Given the description of an element on the screen output the (x, y) to click on. 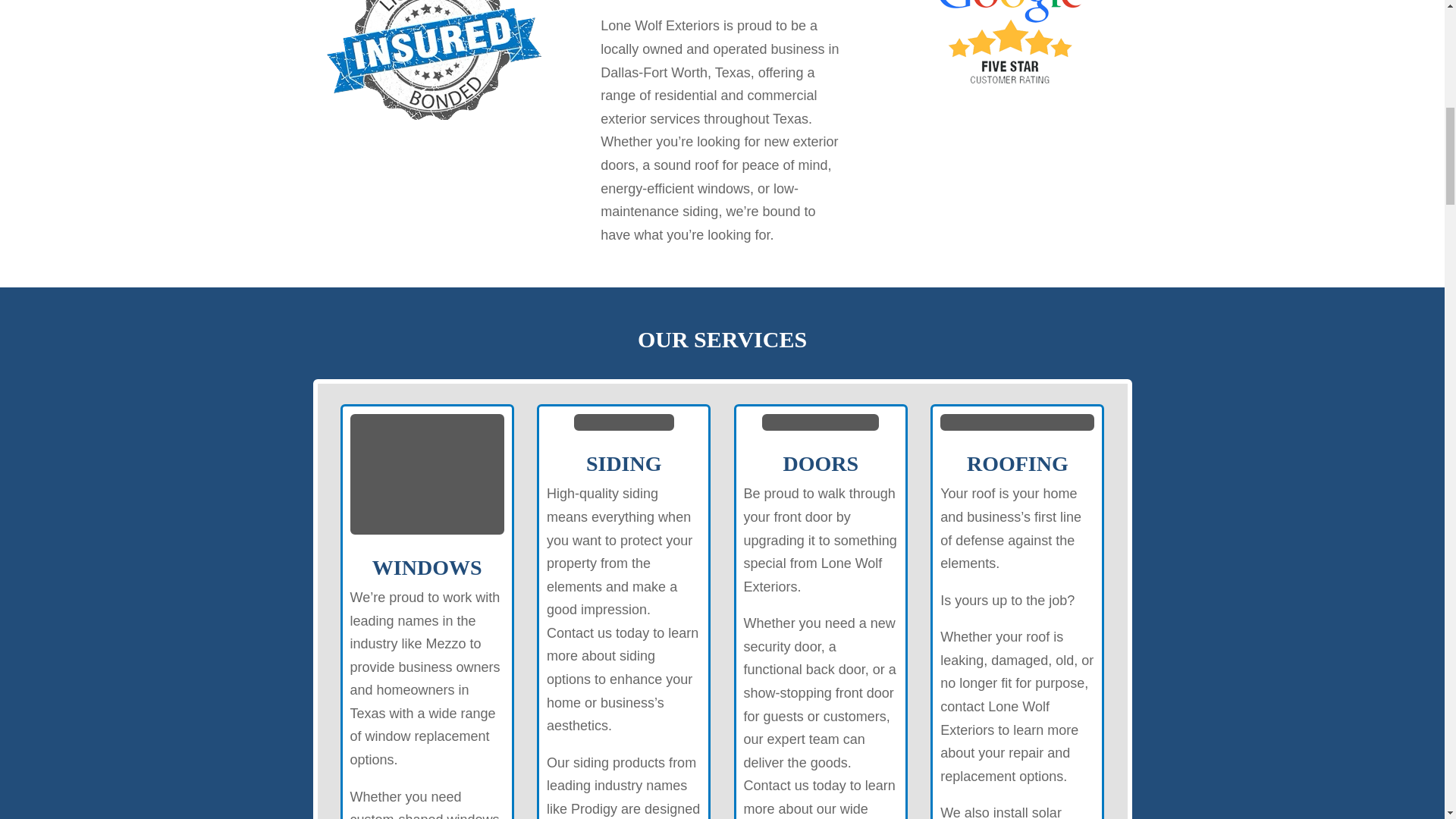
window replacement licensed insured bonded (433, 59)
google-5-stars-rating (1010, 45)
